Given the description of an element on the screen output the (x, y) to click on. 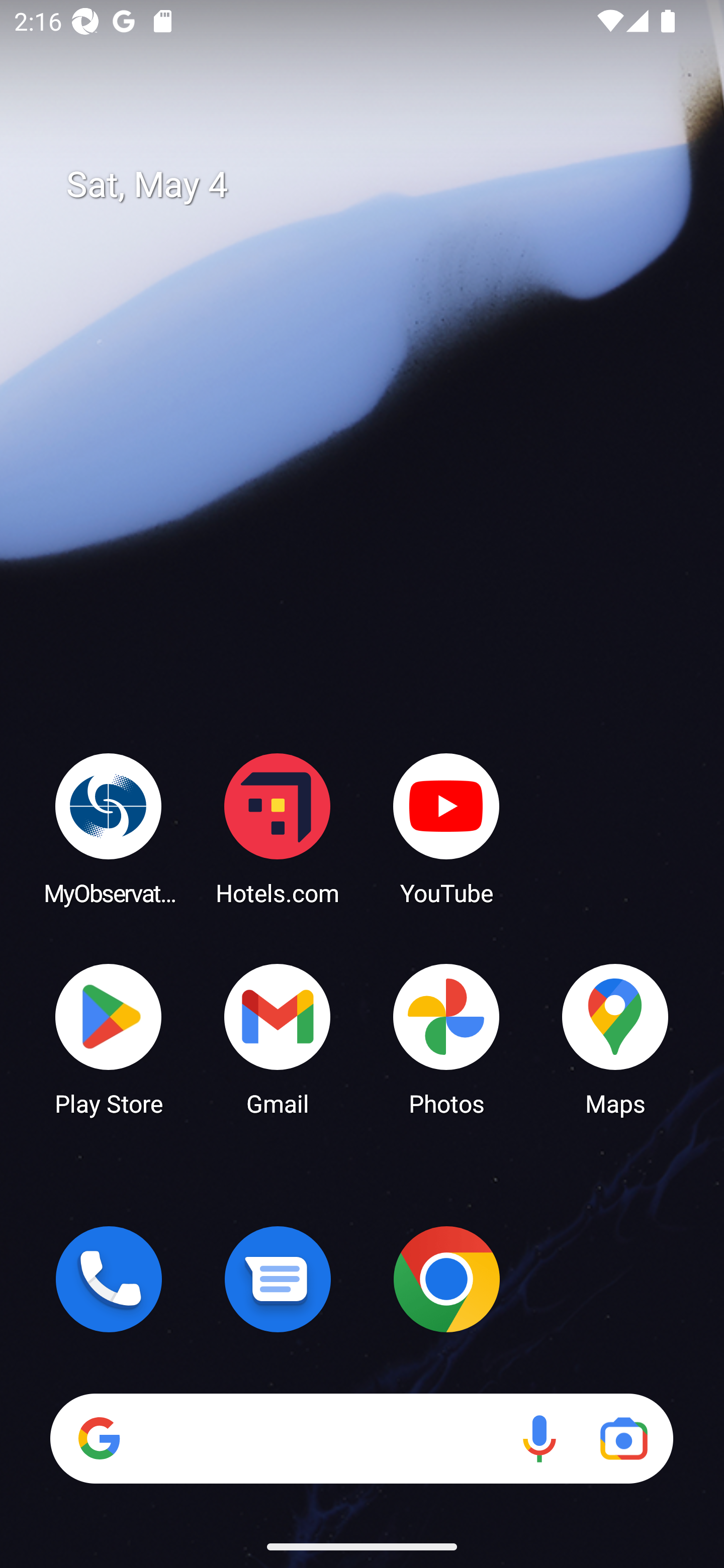
Sat, May 4 (375, 184)
MyObservatory (108, 828)
Hotels.com (277, 828)
YouTube (445, 828)
Play Store (108, 1038)
Gmail (277, 1038)
Photos (445, 1038)
Maps (615, 1038)
Phone (108, 1279)
Messages (277, 1279)
Chrome (446, 1279)
Search Voice search Google Lens (361, 1438)
Voice search (539, 1438)
Google Lens (623, 1438)
